Given the description of an element on the screen output the (x, y) to click on. 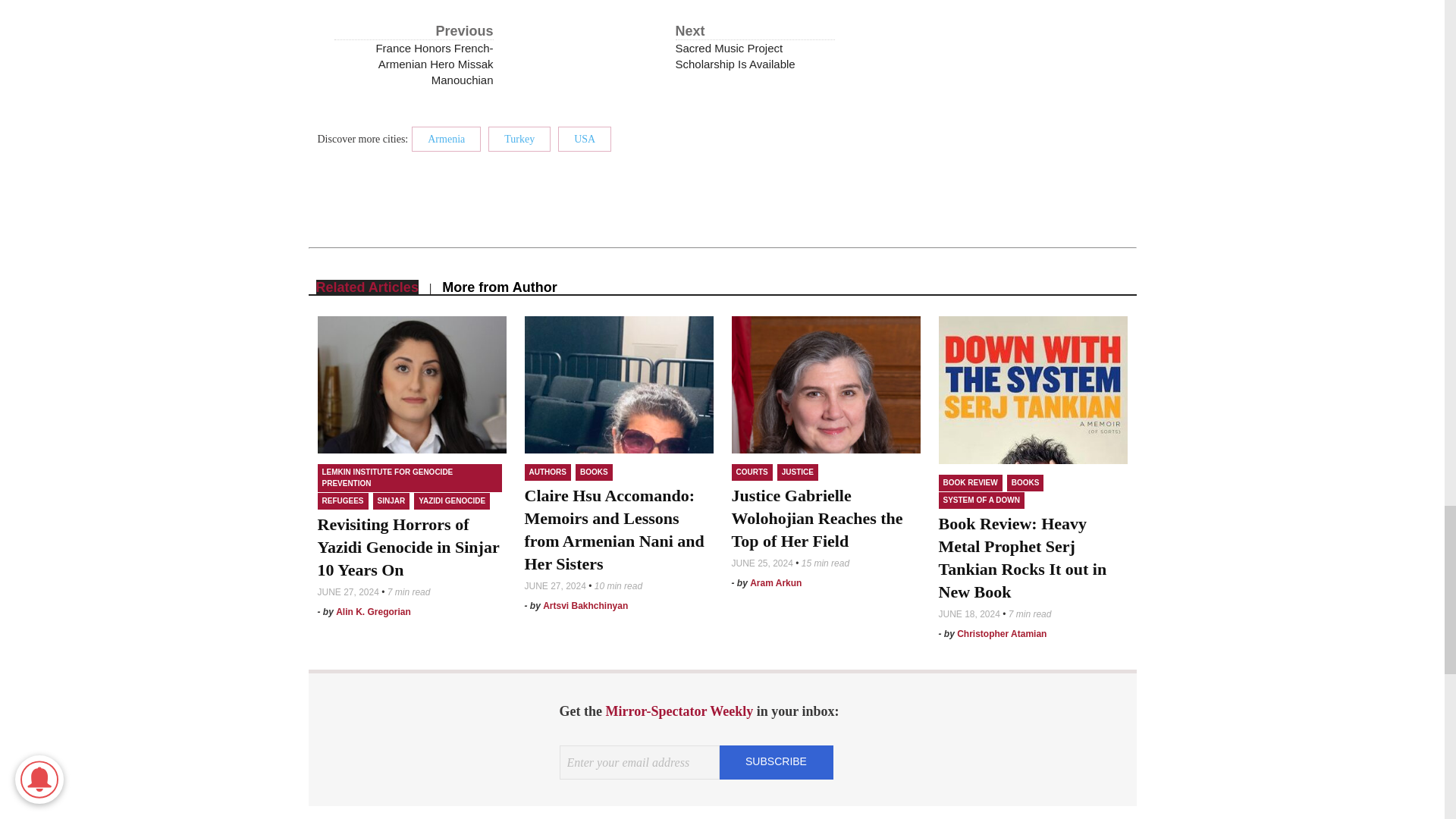
Justice Gabrielle Wolohojian Reaches the Top of Her Field (816, 518)
Revisiting Horrors of Yazidi Genocide in Sinjar 10 Years On (408, 547)
Revisiting Horrors of Yazidi Genocide in Sinjar 10 Years On (411, 384)
Justice Gabrielle Wolohojian Reaches the Top of Her Field (825, 384)
SUBSCRIBE (775, 761)
